Given the description of an element on the screen output the (x, y) to click on. 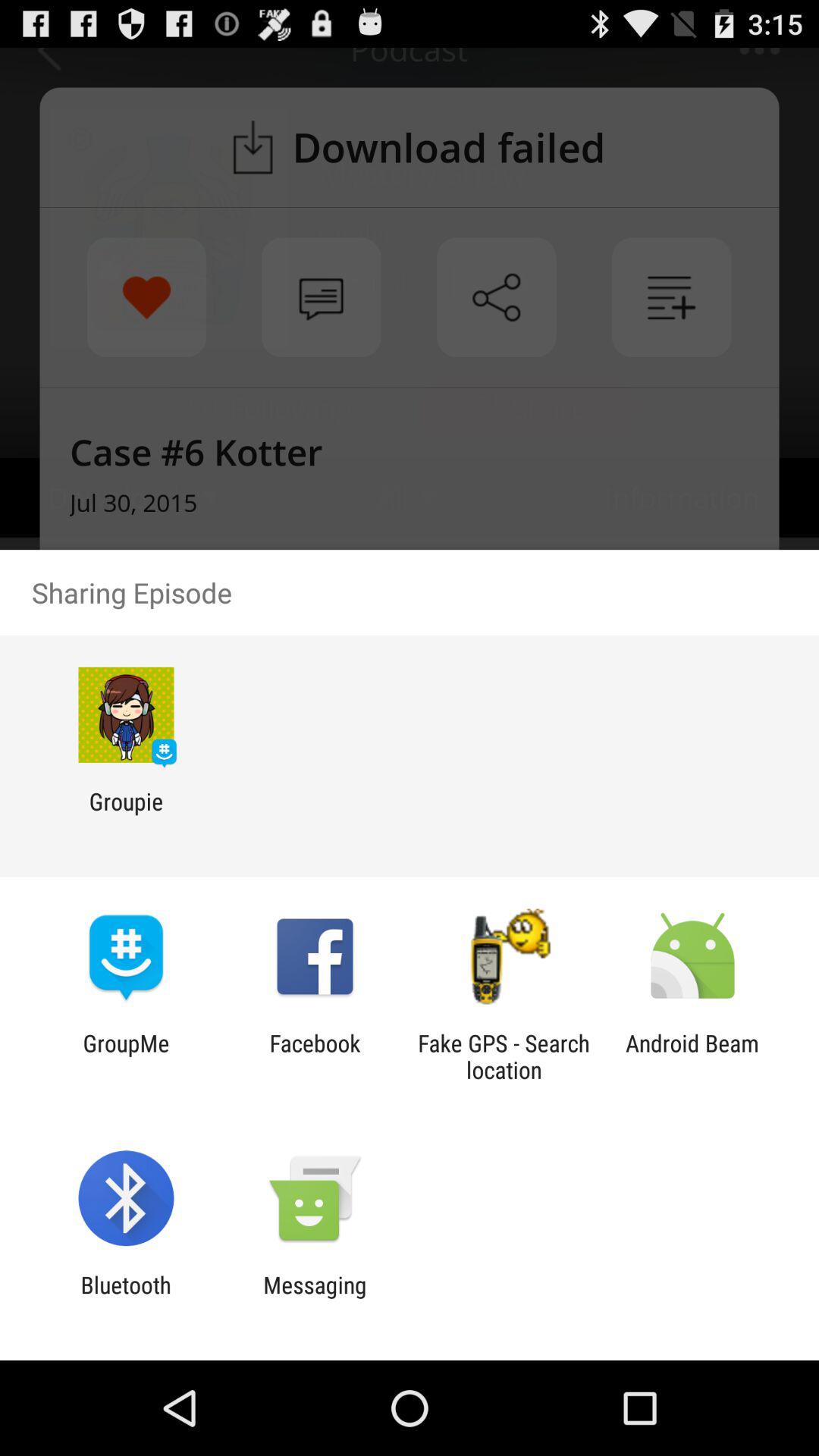
press the item next to fake gps search (692, 1056)
